Given the description of an element on the screen output the (x, y) to click on. 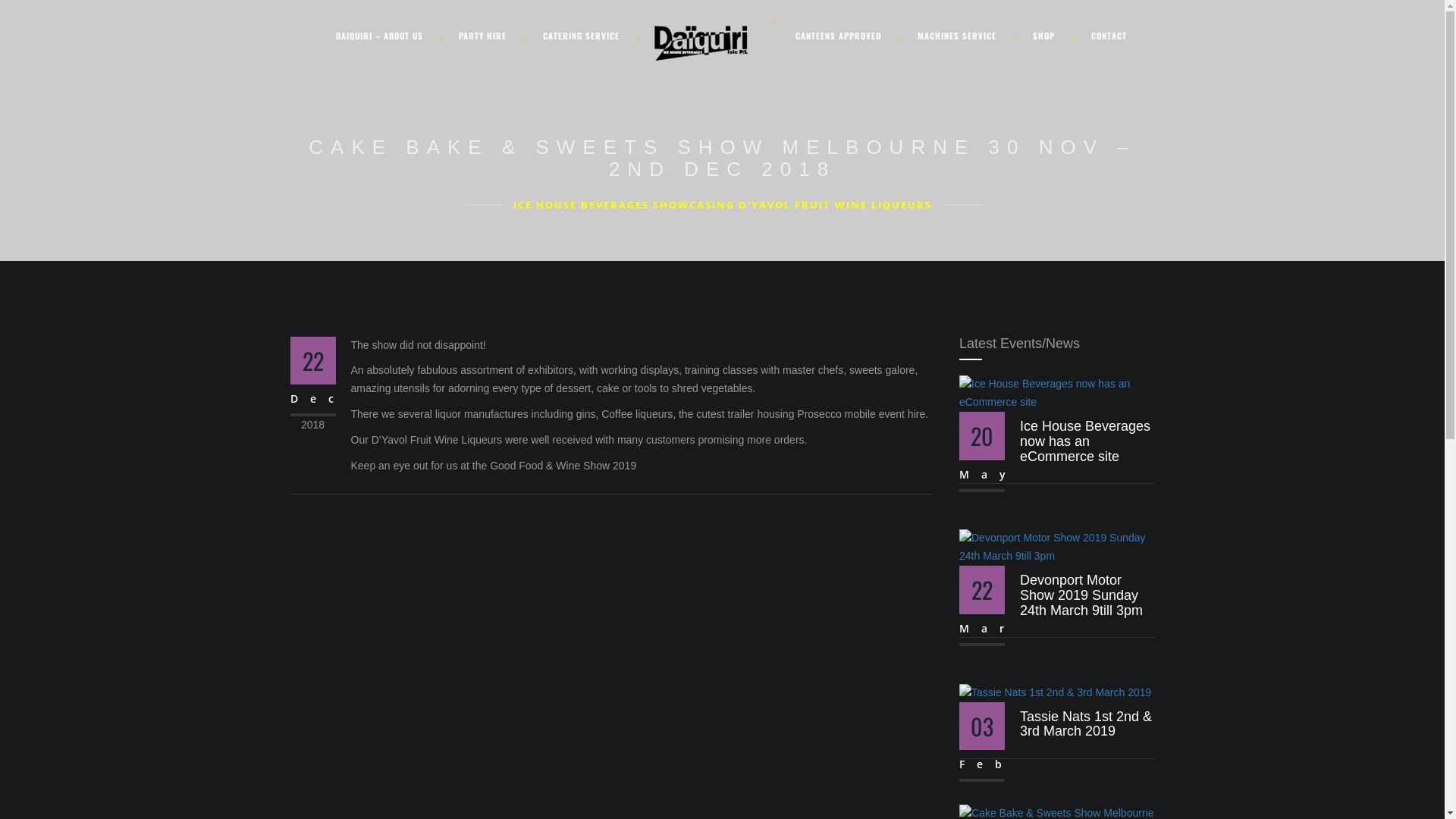
CONTACT Element type: text (1101, 34)
Devonport Motor Show 2019 Sunday 24th March 9till 3pm Element type: text (1080, 595)
SHOP Element type: text (1046, 35)
PARTY HIRE Element type: text (485, 35)
Tassie Nats 1st 2nd & 3rd March 2019 Element type: text (1085, 724)
CANTEENS APPROVED Element type: text (841, 35)
CATERING SERVICE Element type: text (583, 35)
Ice House Beverages now has an eCommerce site Element type: text (1084, 441)
MACHINES SERVICE Element type: text (959, 35)
